Given the description of an element on the screen output the (x, y) to click on. 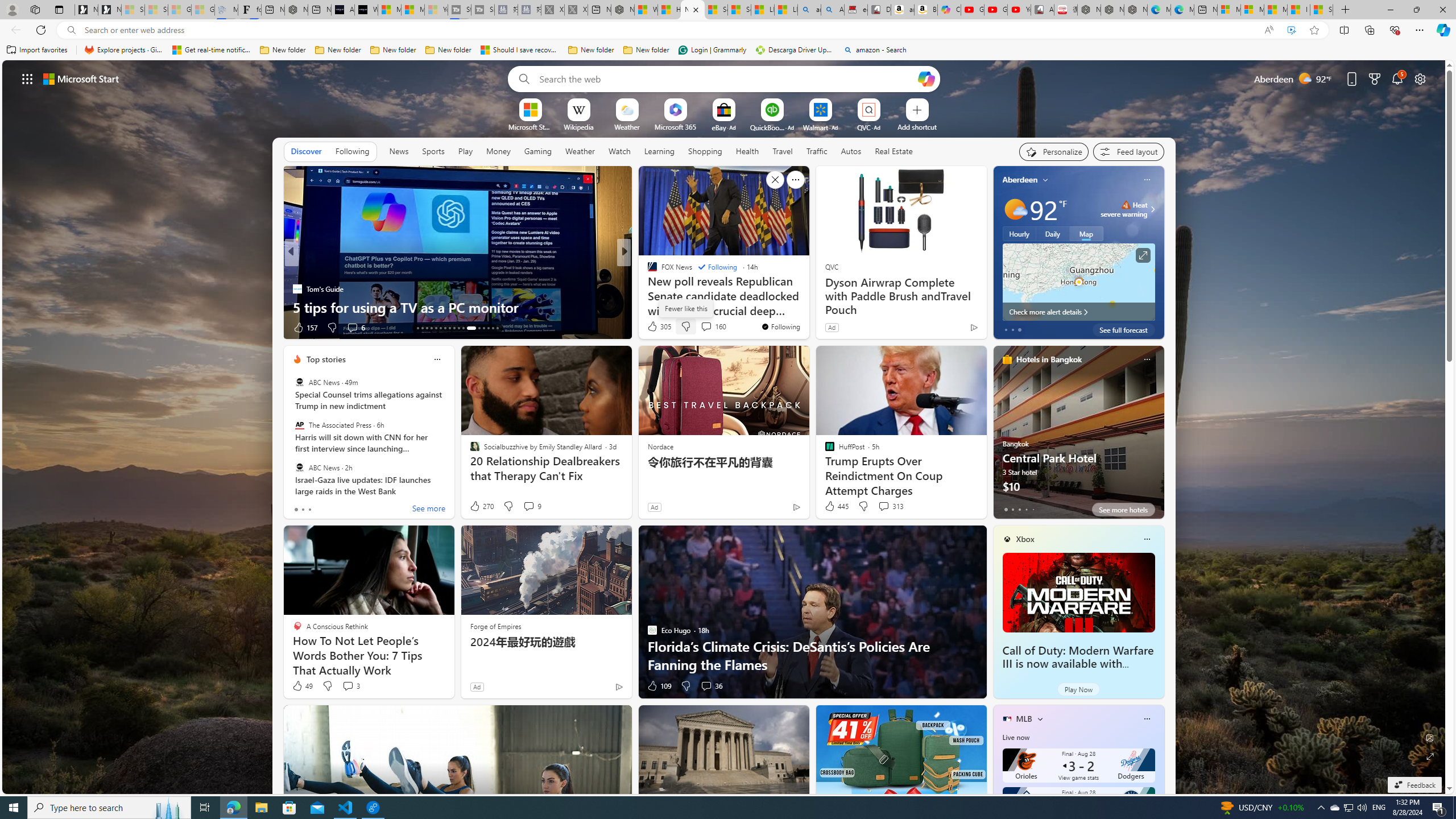
Nordace (659, 446)
Tab actions menu (58, 9)
Page settings (1420, 78)
Click to see more information (1142, 255)
MLB (1024, 718)
Feedback (1414, 784)
Tom's Guide (296, 288)
3k Like (652, 327)
AutomationID: tab-42 (492, 328)
Start the conversation (702, 327)
305 Like (658, 326)
YouTube Kids - An App Created for Kids to Explore Content (1019, 9)
